Given the description of an element on the screen output the (x, y) to click on. 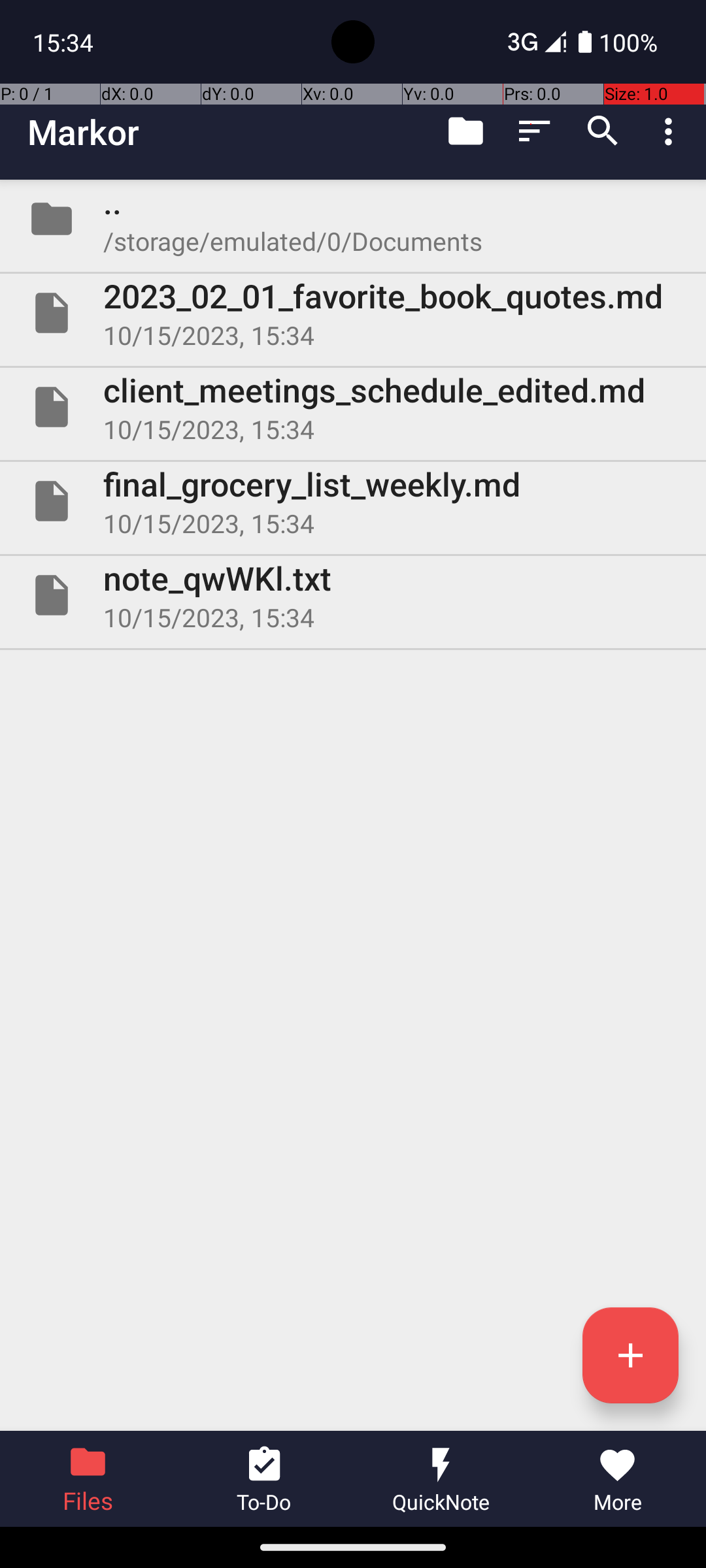
File 2023_02_01_favorite_book_quotes.md  Element type: android.widget.LinearLayout (353, 312)
File client_meetings_schedule_edited.md  Element type: android.widget.LinearLayout (353, 406)
File final_grocery_list_weekly.md  Element type: android.widget.LinearLayout (353, 500)
File note_qwWKl.txt  Element type: android.widget.LinearLayout (353, 594)
